Given the description of an element on the screen output the (x, y) to click on. 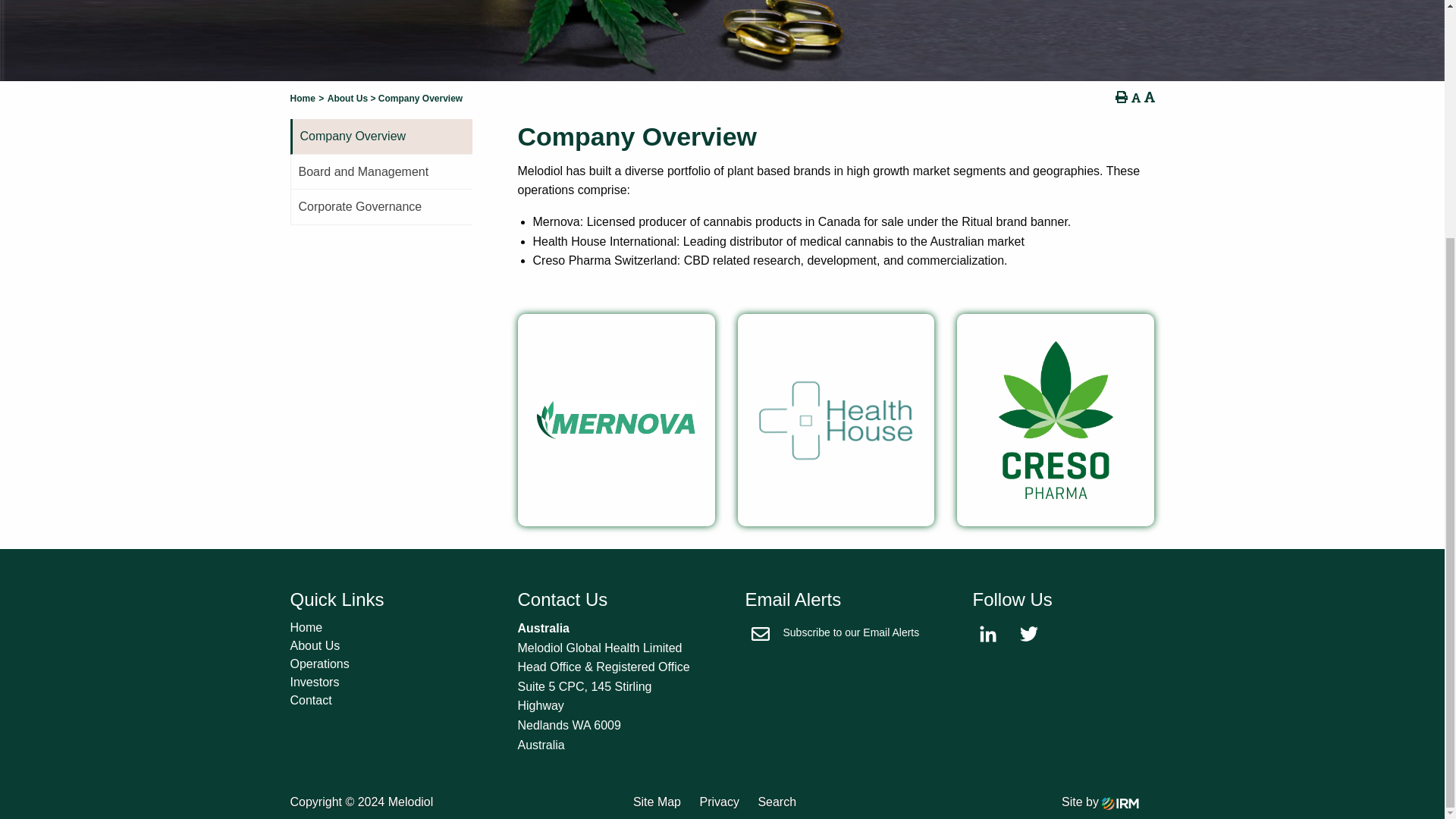
Print Page (1120, 97)
